Given the description of an element on the screen output the (x, y) to click on. 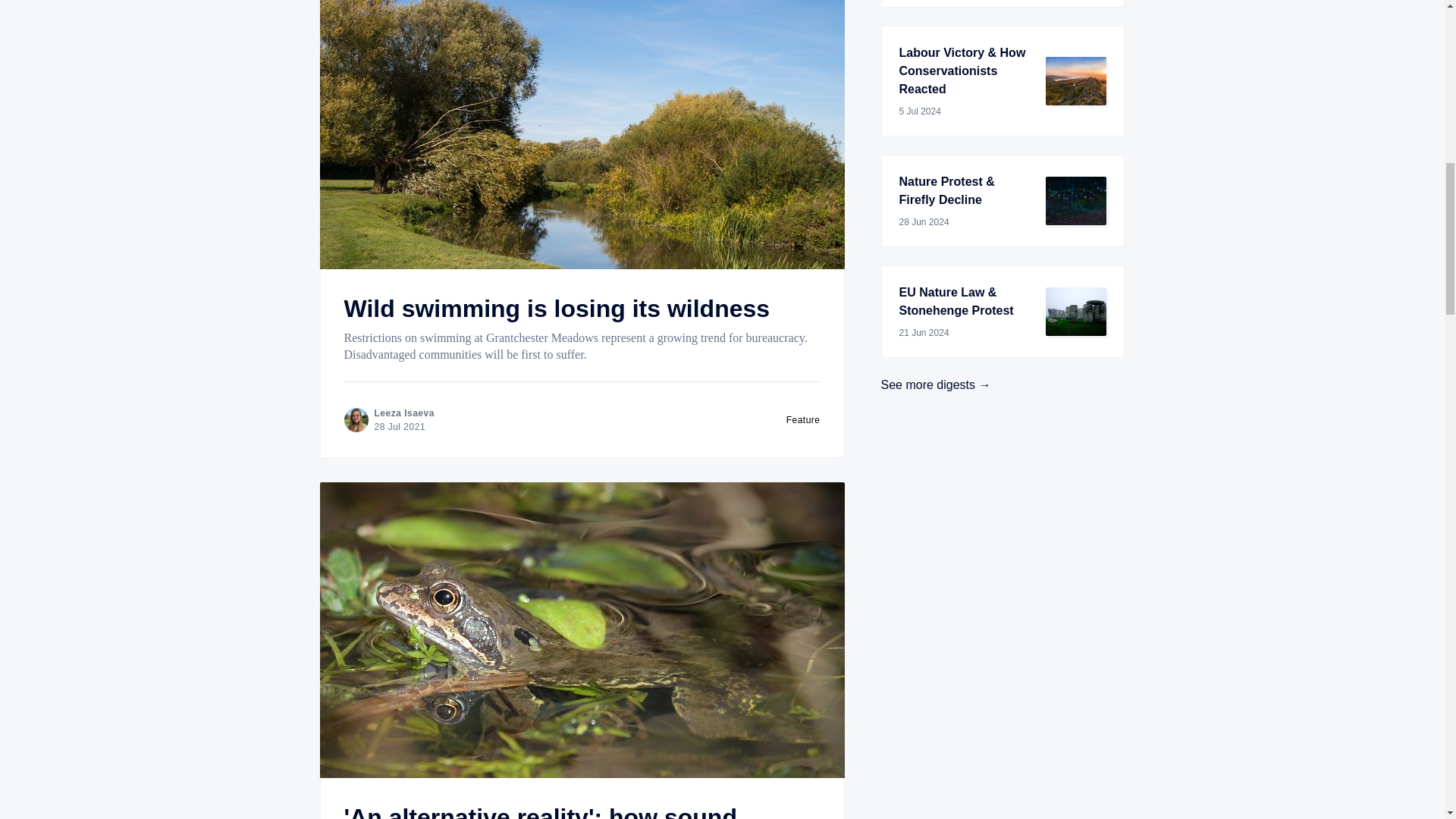
Leeza Isaeva (403, 412)
Wild swimming is losing its wildness (556, 308)
Feature (803, 419)
